Given the description of an element on the screen output the (x, y) to click on. 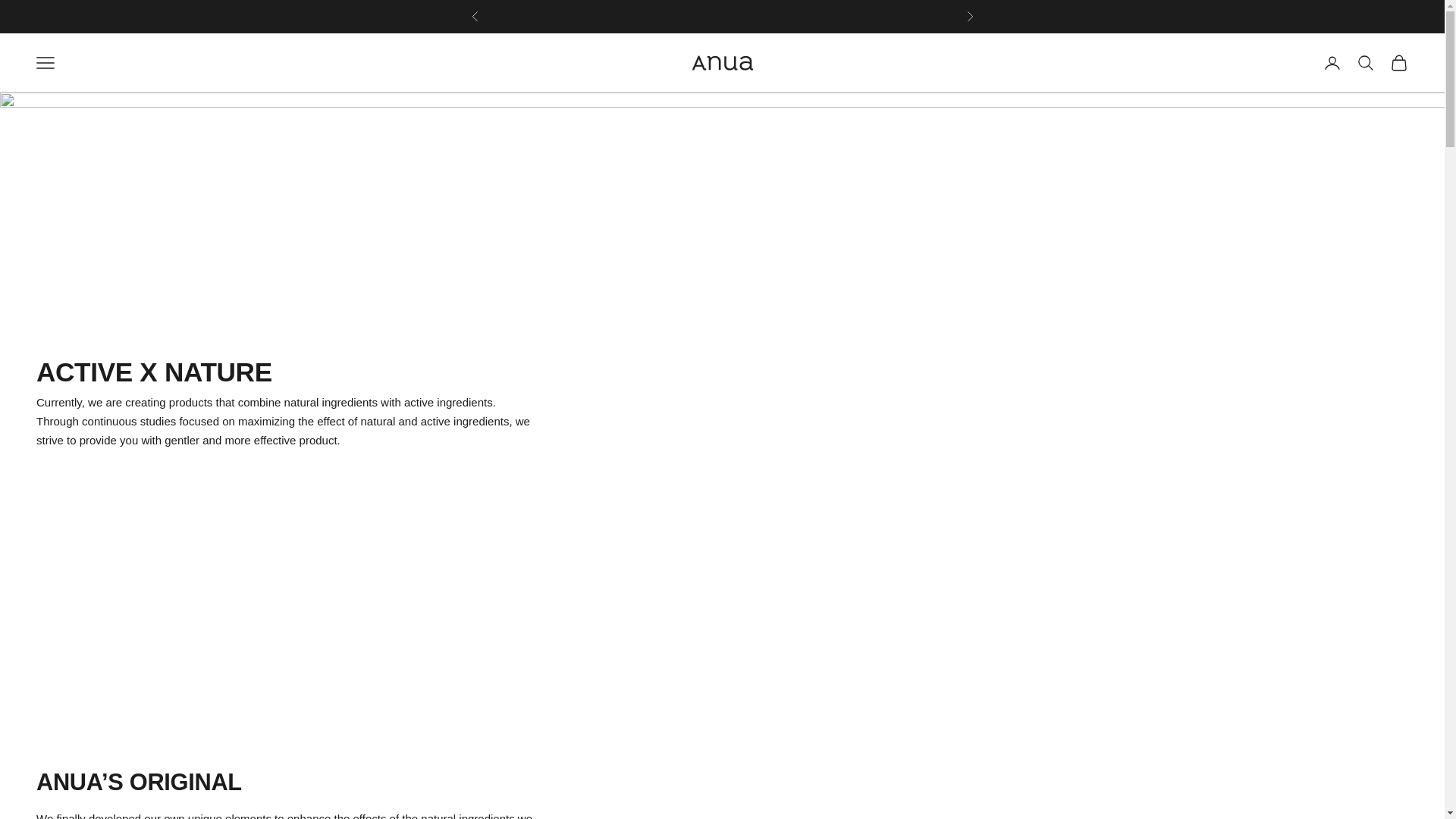
Anua US (721, 62)
Open cart (1398, 63)
Open navigation menu (45, 63)
Open account page (1331, 63)
Open search (1365, 63)
